Given the description of an element on the screen output the (x, y) to click on. 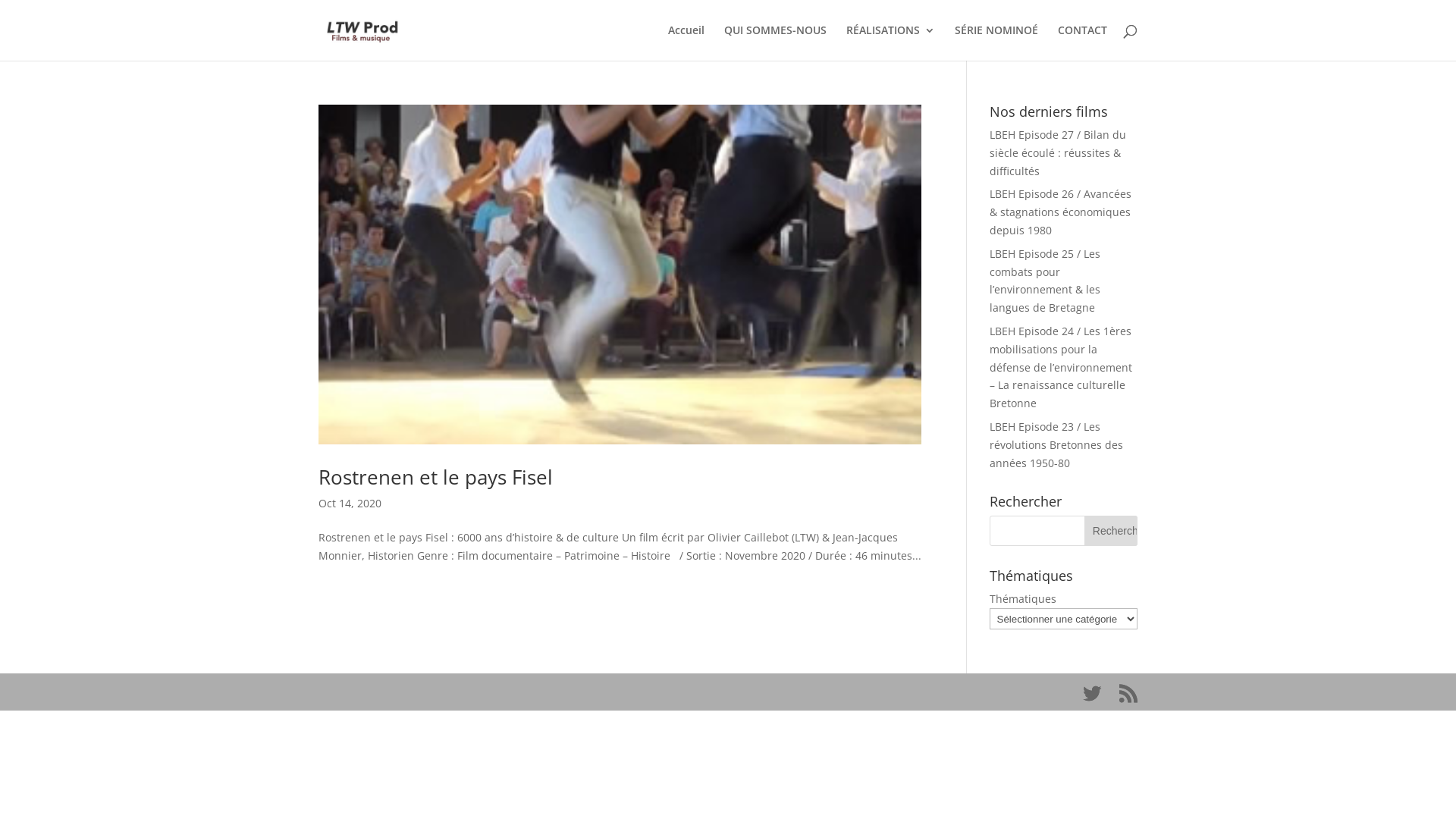
QUI SOMMES-NOUS Element type: text (775, 42)
CONTACT Element type: text (1082, 42)
Accueil Element type: text (686, 42)
Rostrenen et le pays Fisel Element type: text (435, 476)
Rechercher Element type: text (1110, 530)
